Given the description of an element on the screen output the (x, y) to click on. 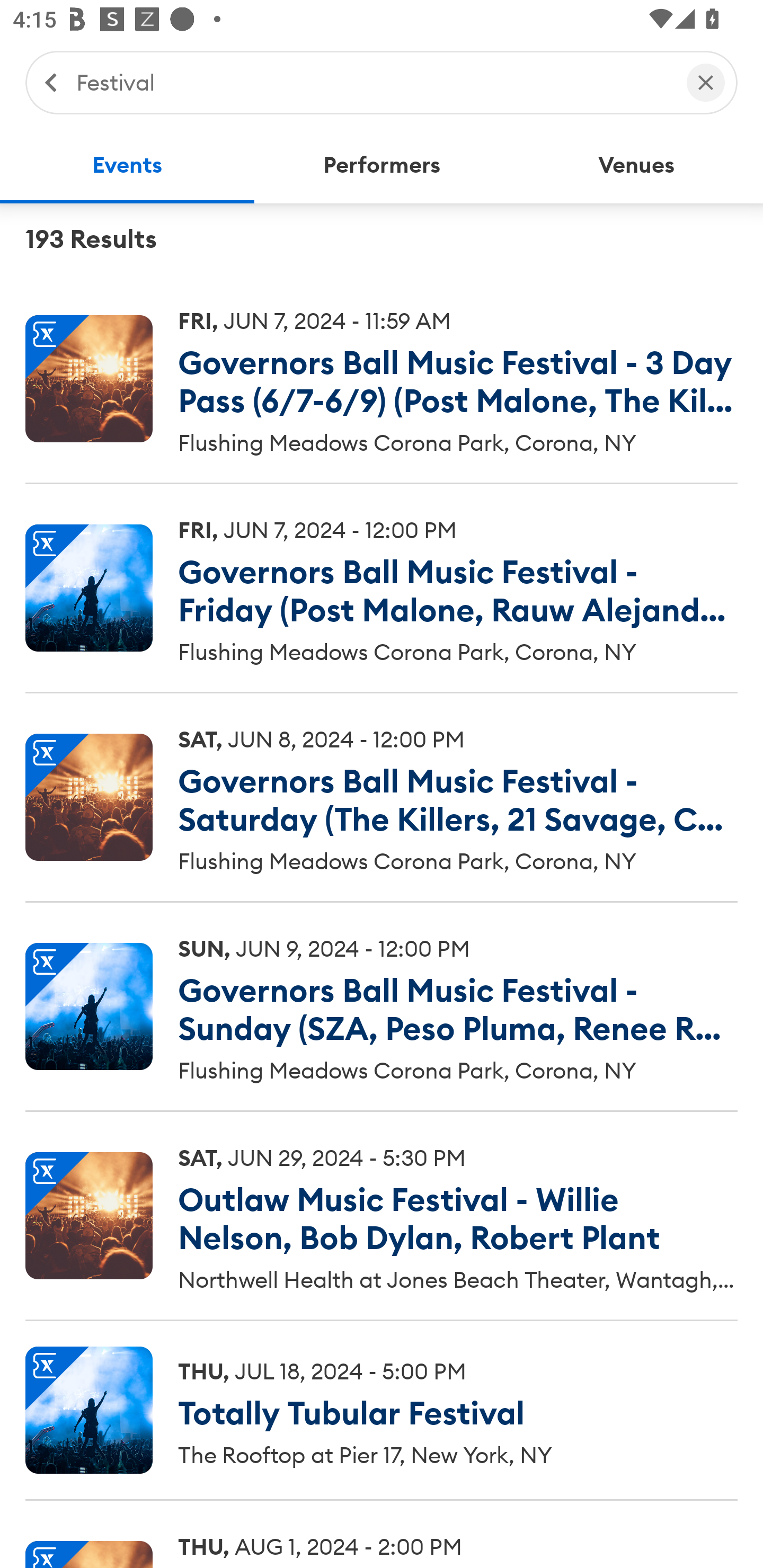
Festival (371, 81)
Clear Search (705, 81)
Performers (381, 165)
Venues (635, 165)
